Given the description of an element on the screen output the (x, y) to click on. 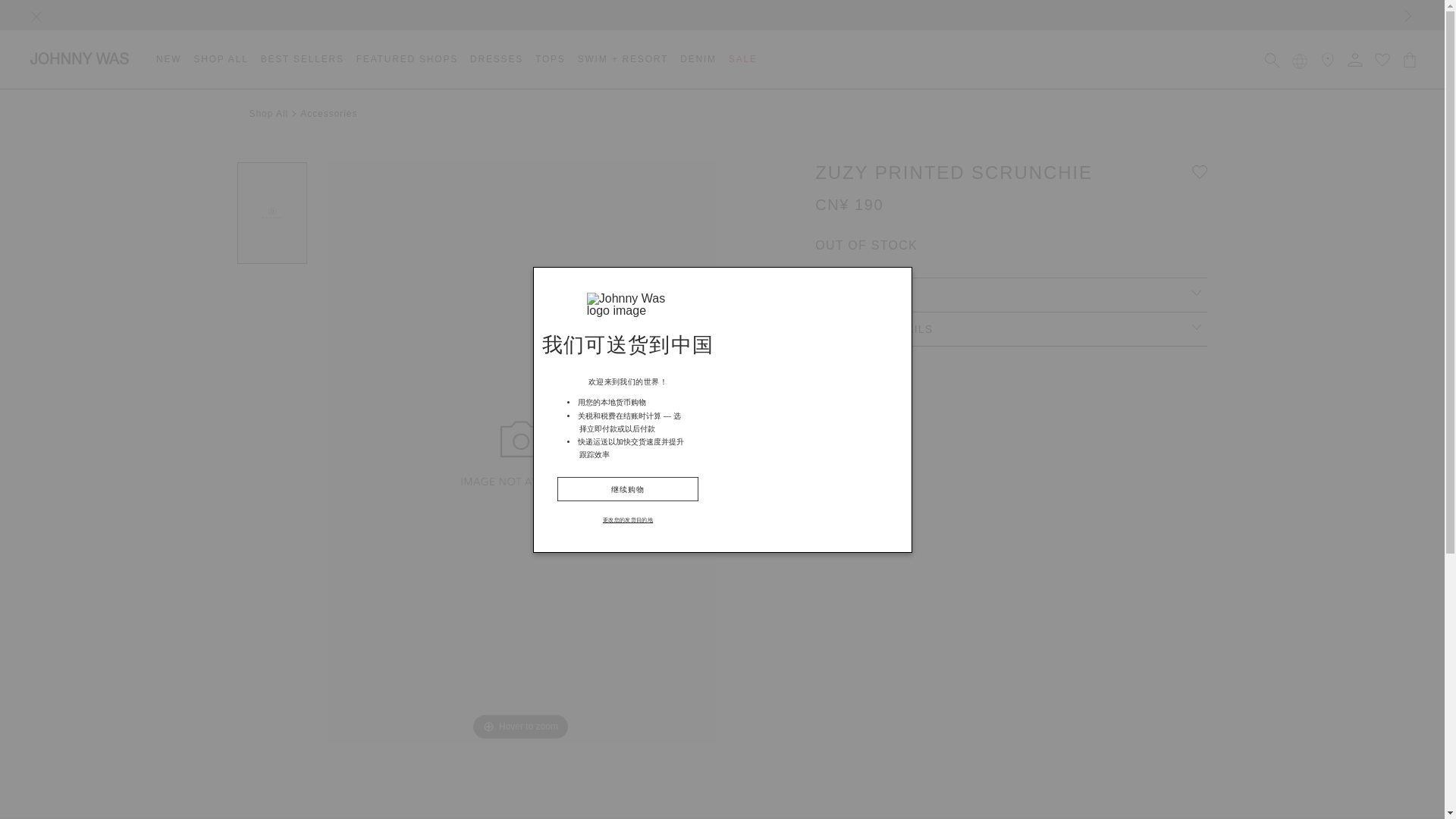
label.svg.menu label.svg.menu (26, 14)
user account user account icon to open user account (1355, 58)
label.svg.menu label.svg.menu (1407, 15)
Shop All (220, 59)
label.svg.menu (36, 16)
label.svg.menu label.svg.menu (36, 16)
SHOP ALL (220, 59)
Johnny Was Home (79, 58)
